Given the description of an element on the screen output the (x, y) to click on. 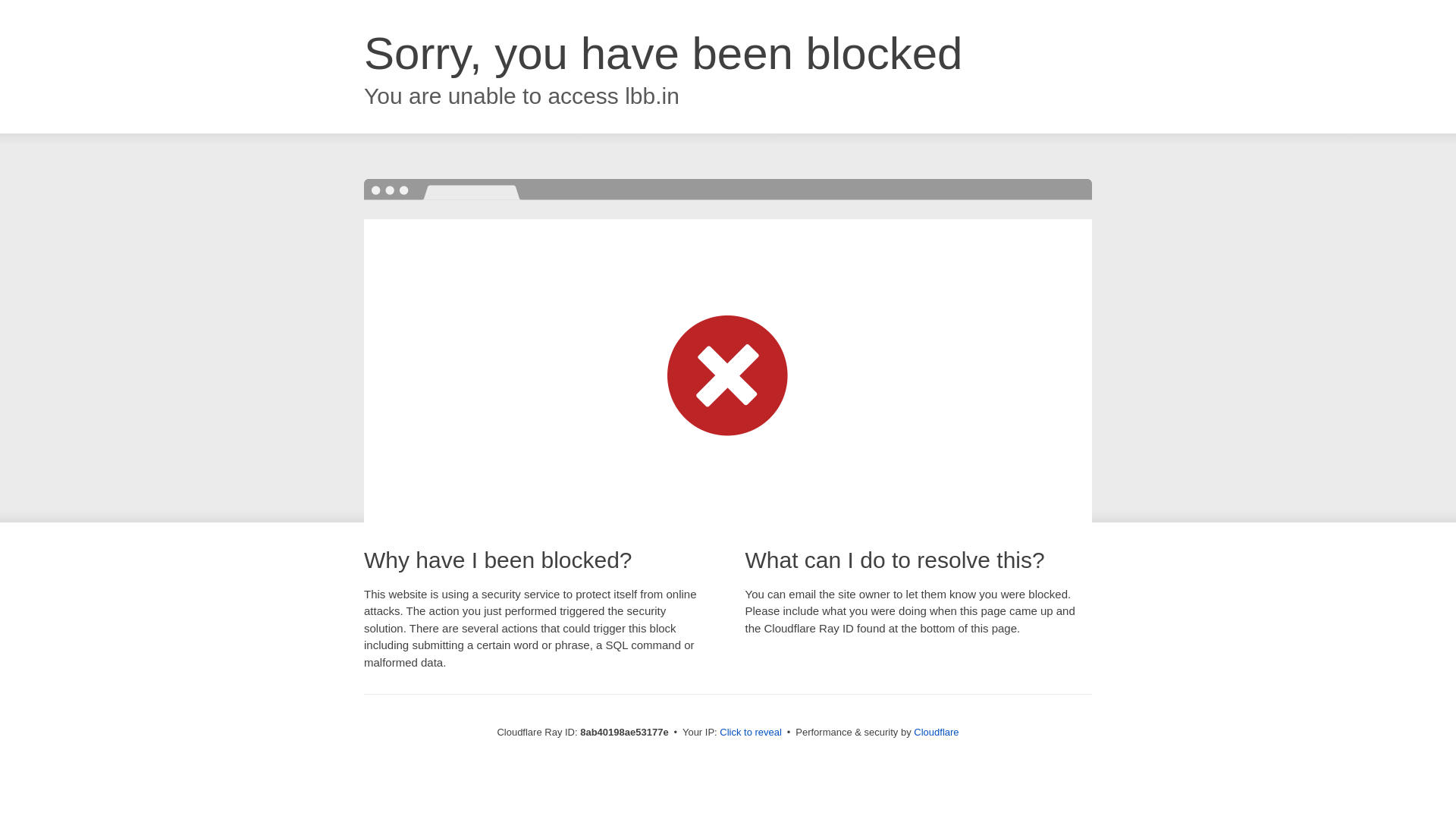
Click to reveal (750, 732)
Cloudflare (936, 731)
